Given the description of an element on the screen output the (x, y) to click on. 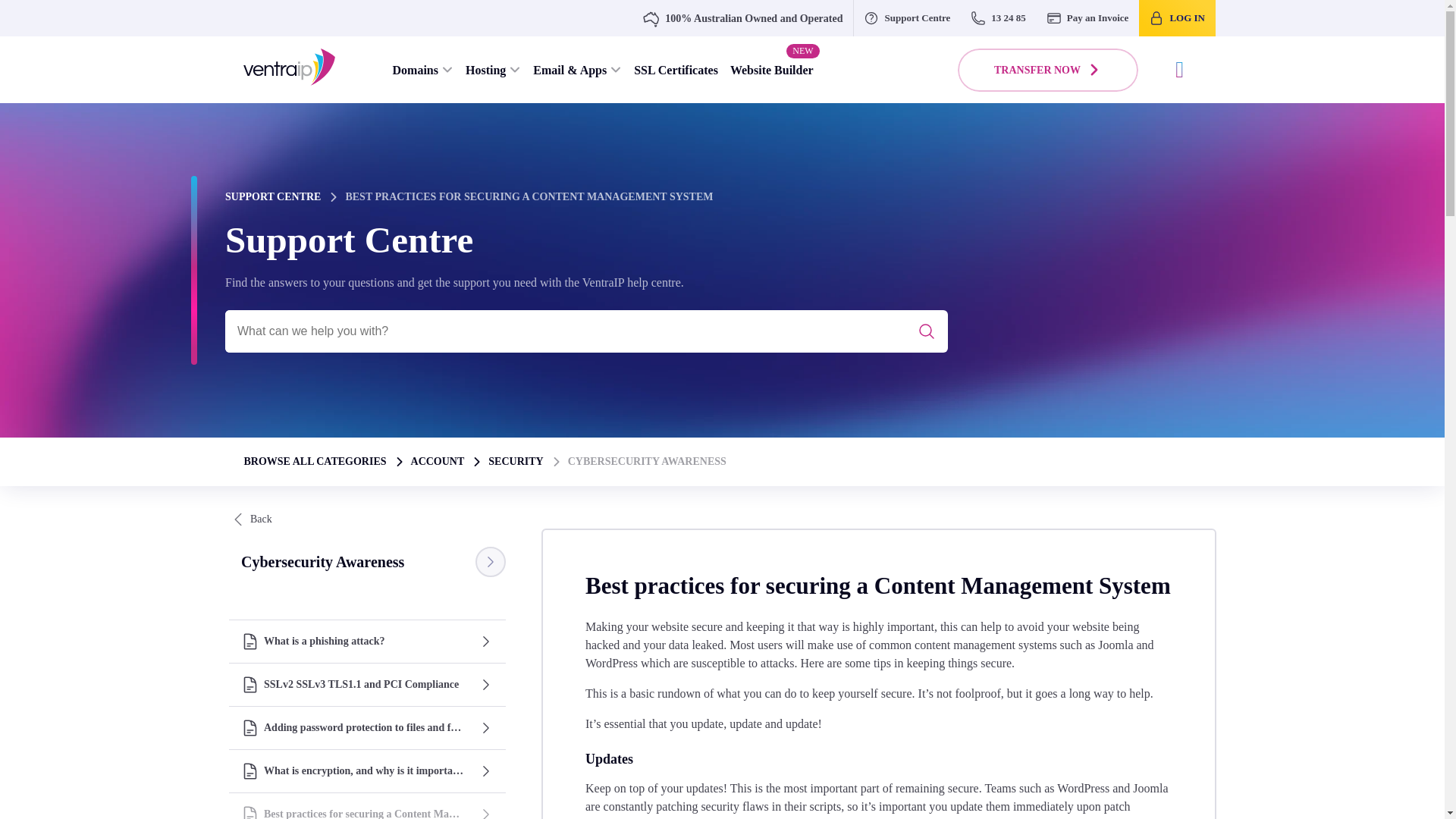
Hosting (493, 69)
Website Builder (771, 69)
SUPPORT CENTRE (272, 197)
SSL Certificates (675, 69)
TRANSFER NOW (1048, 69)
ACCOUNT (437, 461)
13 24 85 (998, 18)
Support Centre (906, 18)
BROWSE ALL CATEGORIES (315, 461)
